Given the description of an element on the screen output the (x, y) to click on. 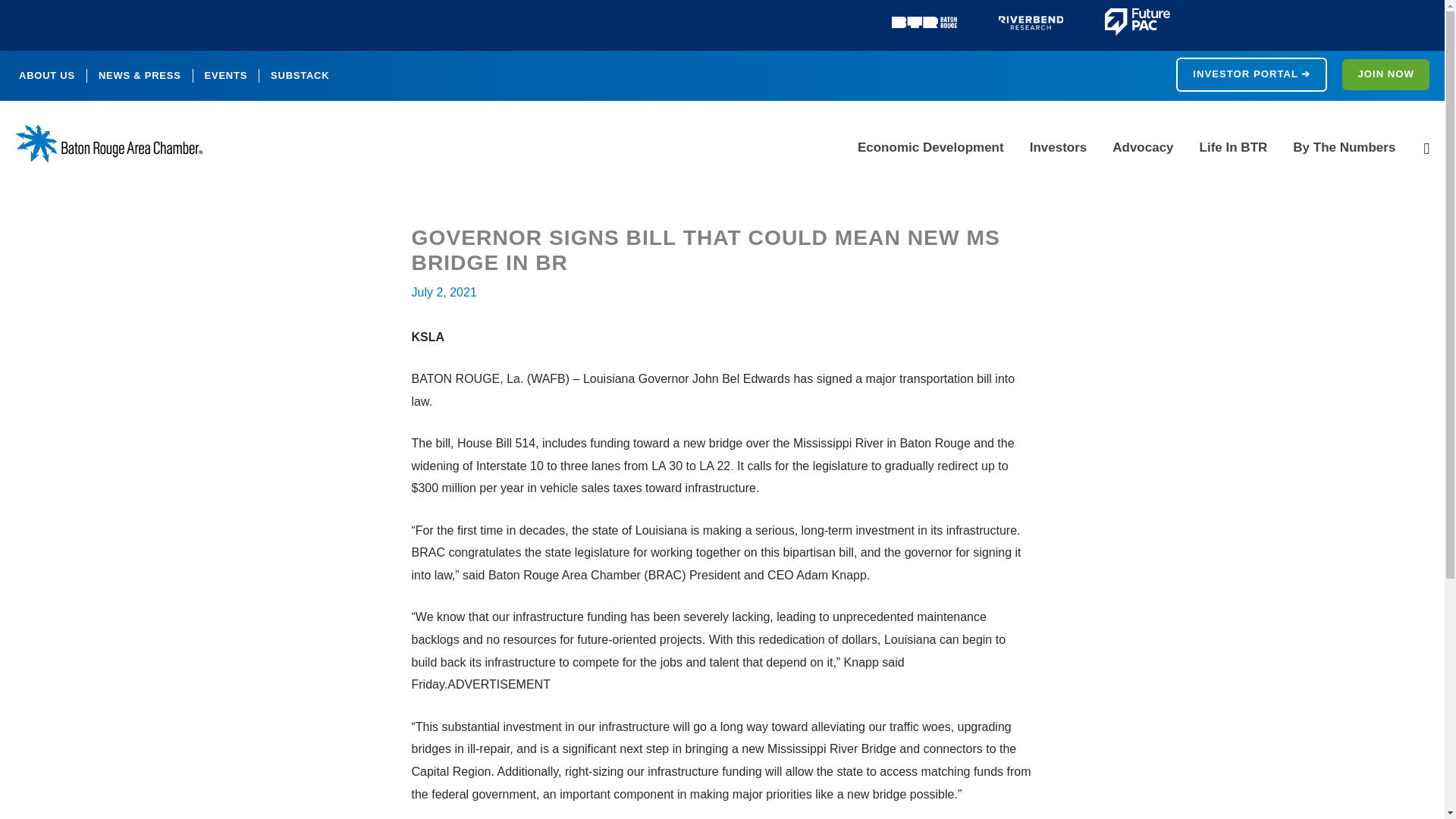
Better in BTR (923, 21)
BRAC-Program-RiverbendResearch (1031, 21)
JOIN NOW (1385, 73)
BRAC-Program-FuturePAC (1137, 21)
Economic Development (930, 147)
SUBSTACK (299, 75)
EVENTS (225, 75)
ABOUT US (46, 75)
Advocacy (1142, 147)
Life In BTR (1233, 147)
